Given the description of an element on the screen output the (x, y) to click on. 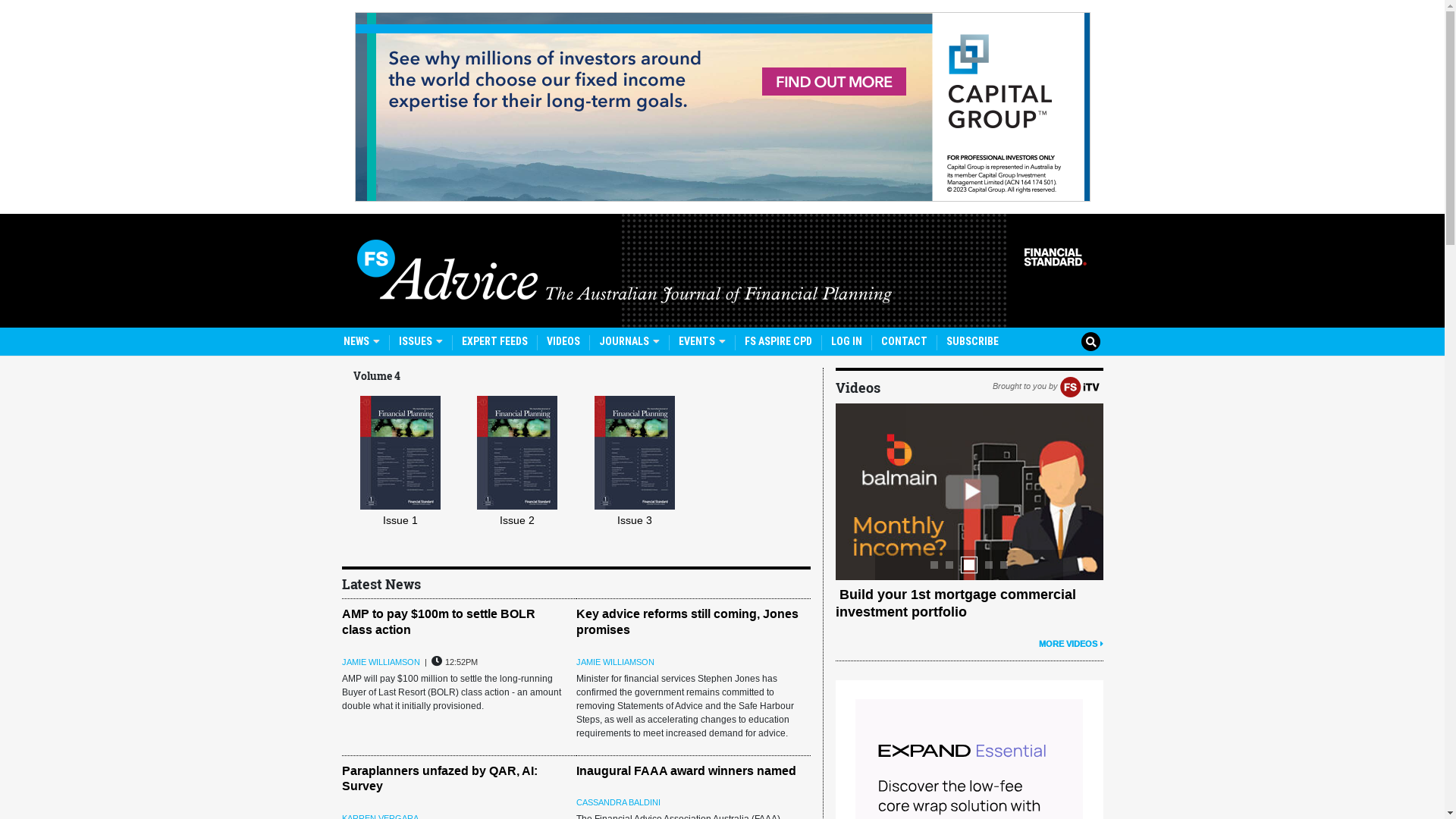
FS Advice Element type: hover (721, 270)
CONTACT Element type: text (904, 341)
ISSUES Element type: text (420, 341)
JAMIE WILLIAMSON Element type: text (615, 661)
FS ASPIRE CPD Element type: text (778, 341)
Volume 4, Issue 2 Element type: hover (516, 452)
AMP to pay $100m to settle BOLR class action Element type: text (437, 621)
LOG IN Element type: text (846, 341)
Volume 4, Issue 3 Element type: hover (634, 452)
JOURNALS Element type: text (629, 341)
JAMIE WILLIAMSON Element type: text (380, 661)
Issue 1 Element type: text (407, 485)
NEWS Element type: text (360, 341)
VIDEOS Element type: text (562, 341)
MORE VIDEOS Element type: text (1070, 643)
Issue 3 Element type: text (641, 485)
Key advice reforms still coming, Jones promises Element type: text (687, 621)
FSiTV Element type: hover (1079, 385)
CASSANDRA BALDINI Element type: text (618, 801)
EVENTS Element type: text (700, 341)
Is there enough value in your Australian equities portfolio? Element type: text (966, 602)
Advertisement Element type: hover (722, 106)
EXPERT FEEDS Element type: text (494, 341)
Inaugural FAAA award winners named Element type: text (686, 770)
Paraplanners unfazed by QAR, AI: Survey Element type: text (438, 778)
Issue 2 Element type: text (523, 485)
Volume 4, Issue 1 Element type: hover (400, 452)
SUBSCRIBE Element type: text (972, 341)
